Given the description of an element on the screen output the (x, y) to click on. 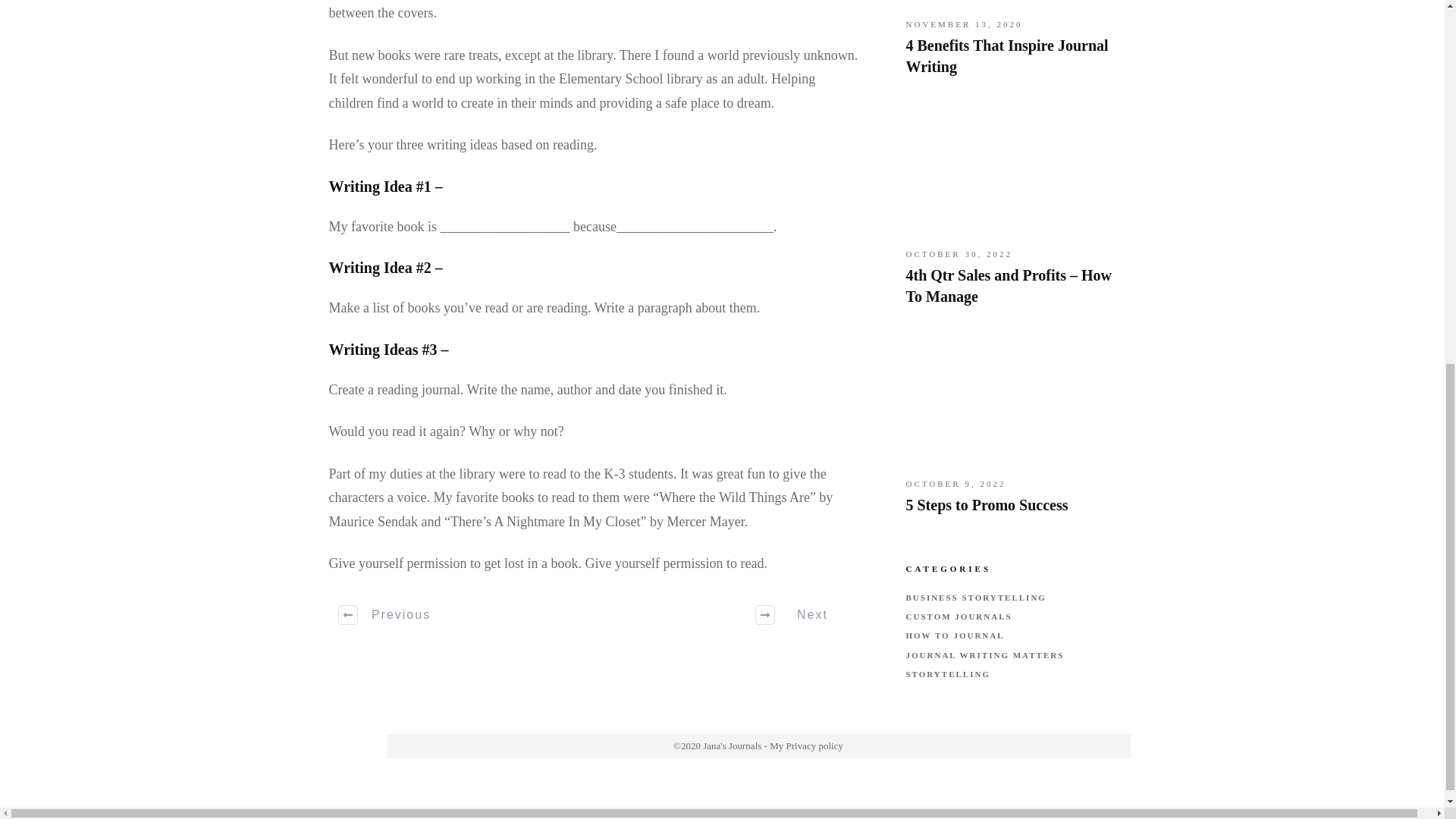
BUSINESS STORYTELLING (975, 597)
4 Benefits That Inspire Journal Writing (1010, 46)
HOW TO JOURNAL (954, 635)
JOURNAL WRITING MATTERS (984, 655)
5 Steps to Promo Success (986, 504)
CUSTOM JOURNALS (958, 616)
4 Benefits That Inspire Journal Writing (1006, 55)
Next (802, 614)
My Privacy policy (806, 745)
Previous (385, 614)
